Given the description of an element on the screen output the (x, y) to click on. 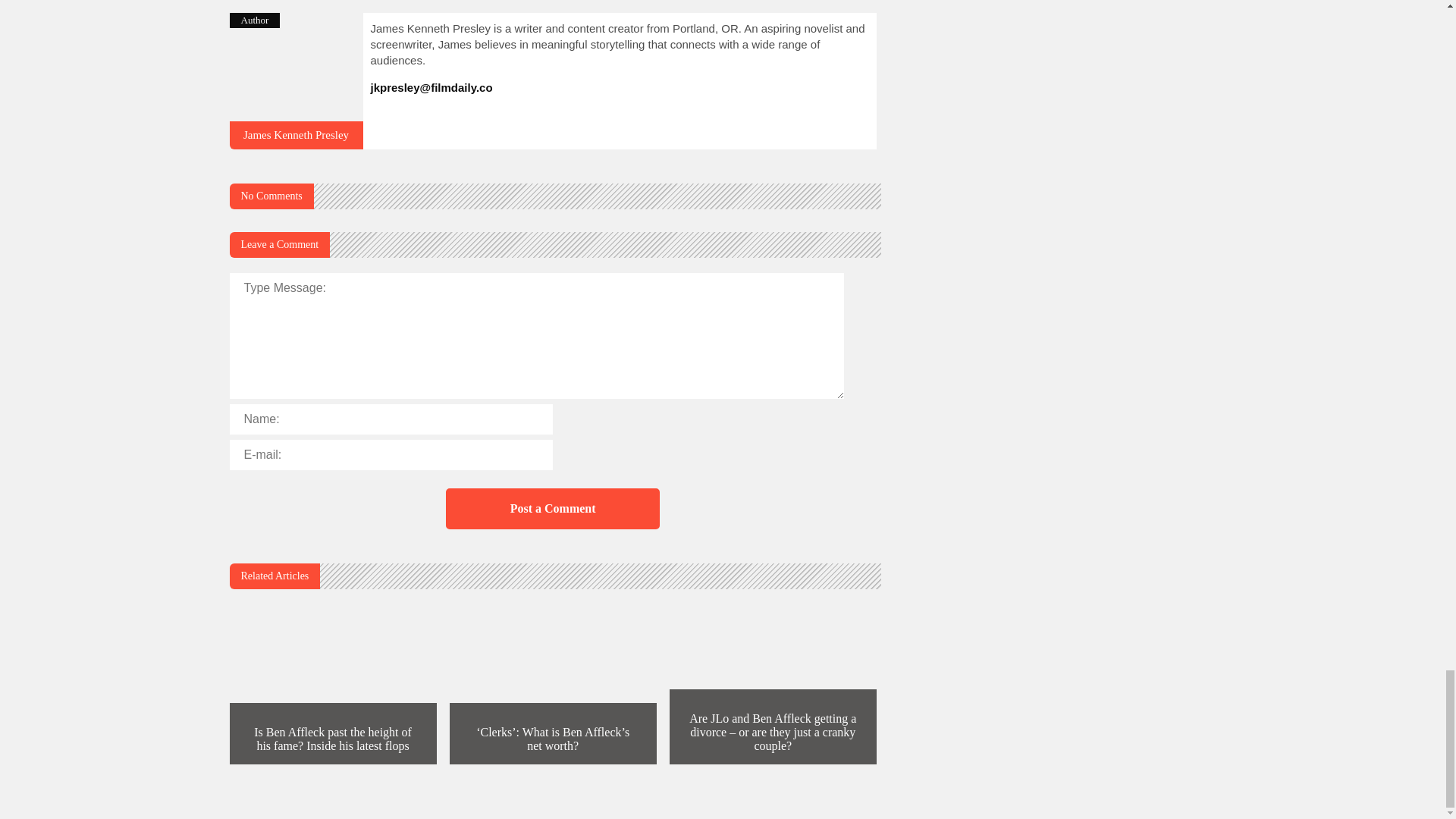
Post a Comment (552, 508)
